Given the description of an element on the screen output the (x, y) to click on. 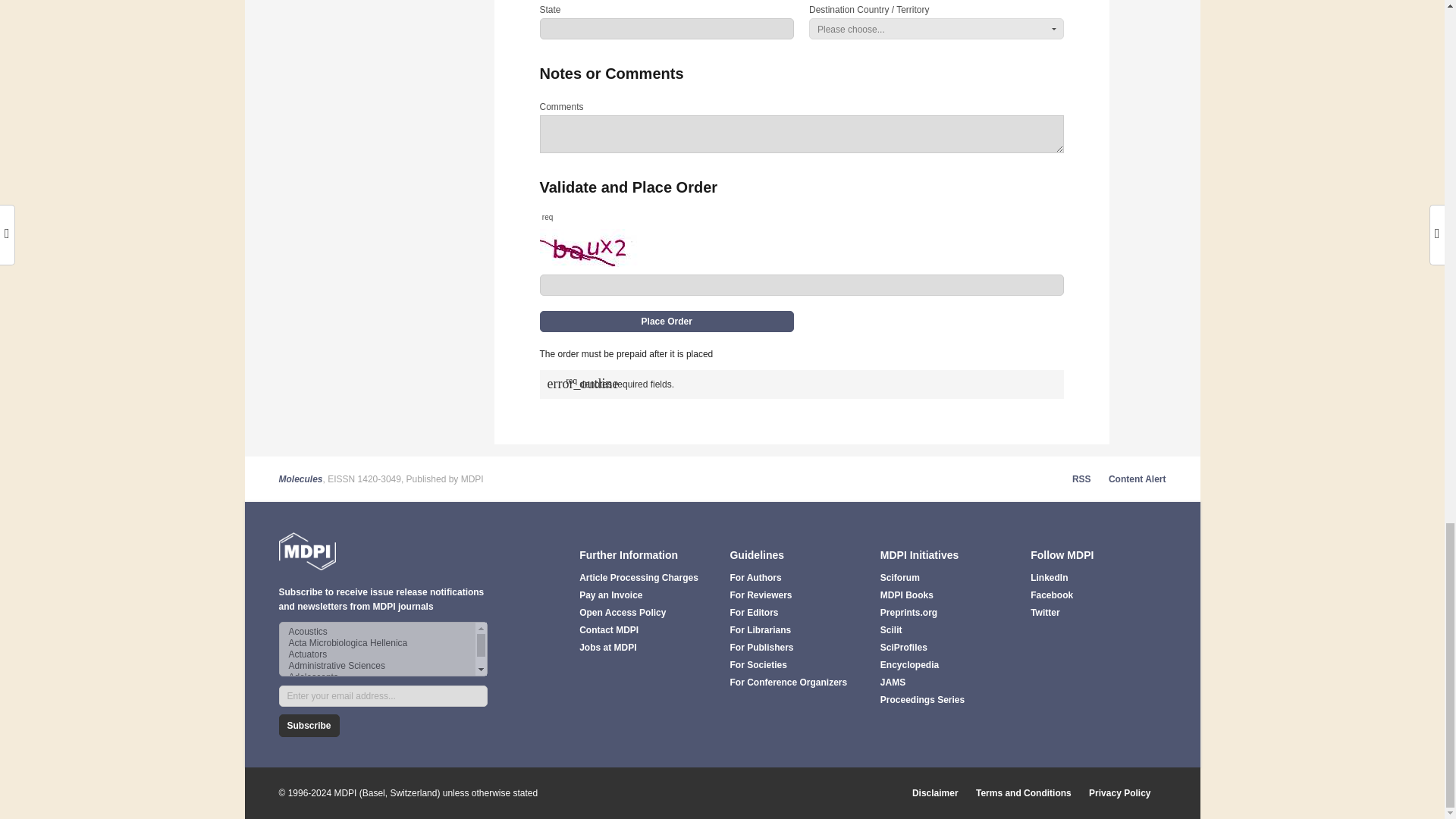
MDPI Open Access Journals (307, 551)
captcha (589, 247)
